Given the description of an element on the screen output the (x, y) to click on. 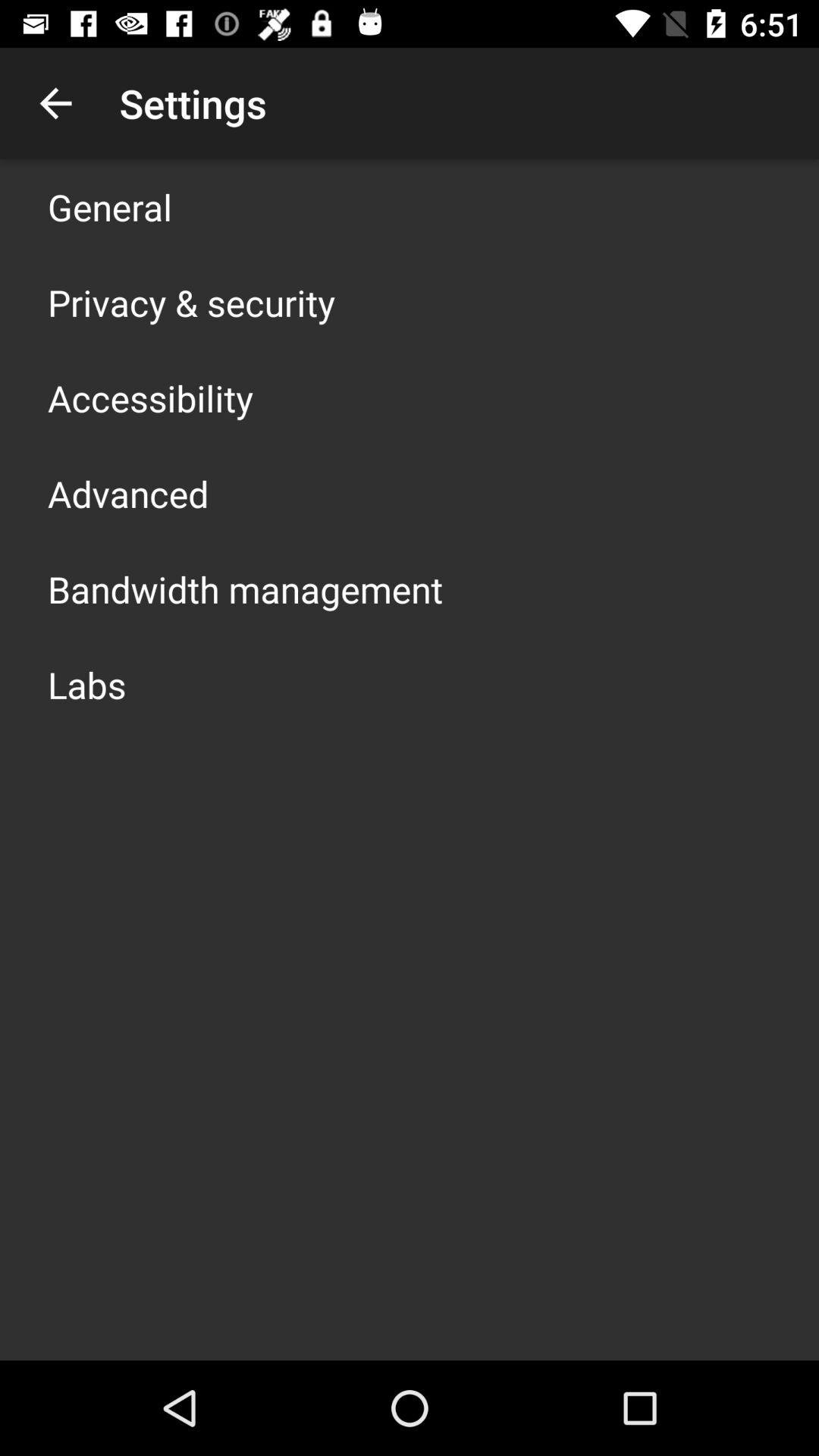
open the icon above advanced item (150, 397)
